Given the description of an element on the screen output the (x, y) to click on. 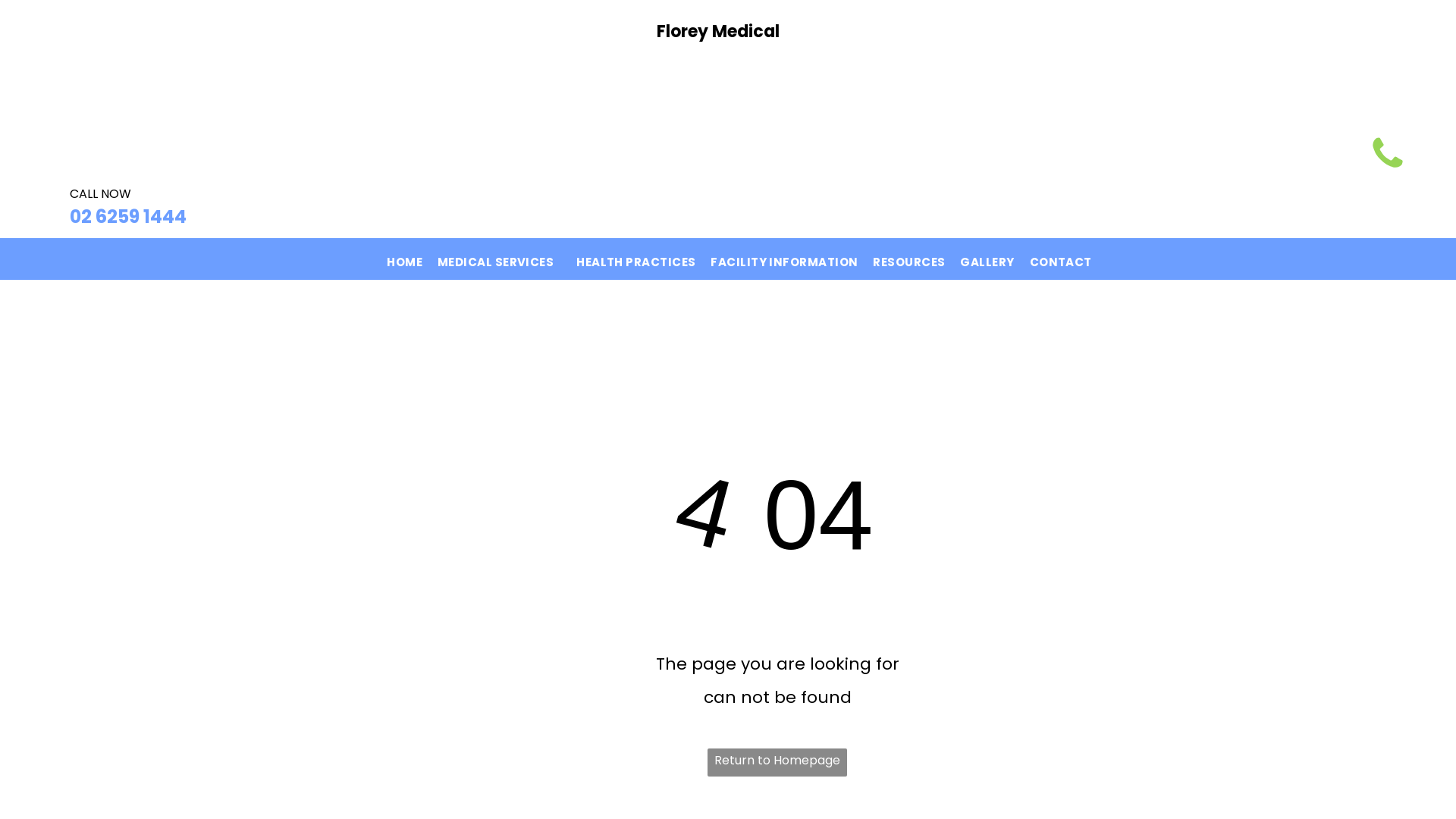
MEDICAL SERVICES Element type: text (498, 258)
FACILITY INFORMATION Element type: text (783, 258)
Return to Homepage Element type: text (777, 762)
CONTACT Element type: text (1060, 258)
HEALTH PRACTICES Element type: text (635, 258)
Florey Medical Element type: text (717, 31)
02 6259 1444 Element type: text (127, 216)
HOME Element type: text (404, 258)
RESOURCES Element type: text (908, 258)
GALLERY Element type: text (986, 258)
